Given the description of an element on the screen output the (x, y) to click on. 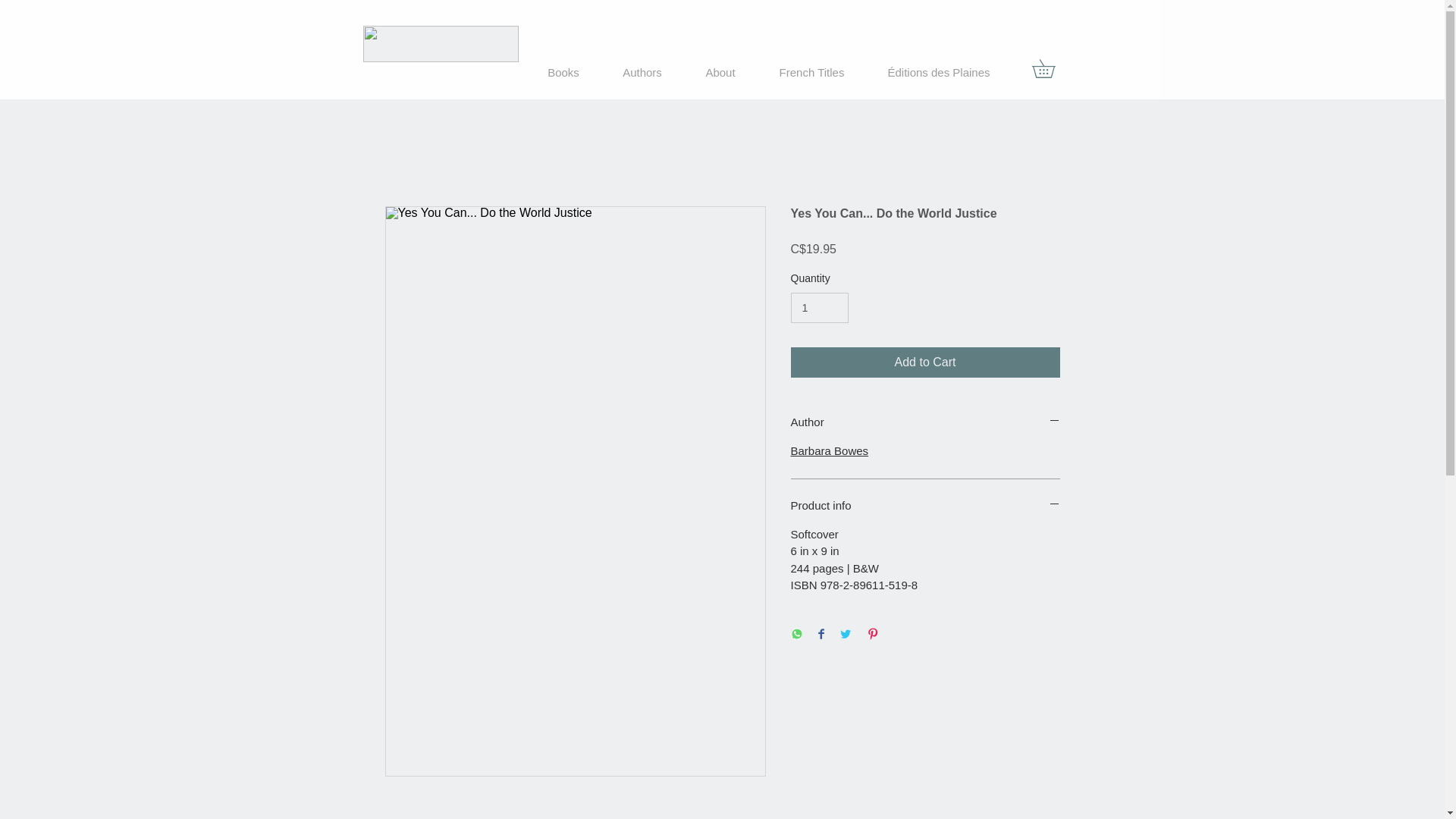
Add to Cart (924, 362)
Product info (924, 505)
Authors (640, 72)
Author (924, 421)
Books (563, 72)
About (720, 72)
French Titles (811, 72)
Barbara Bowes (828, 450)
1 (818, 307)
